Given the description of an element on the screen output the (x, y) to click on. 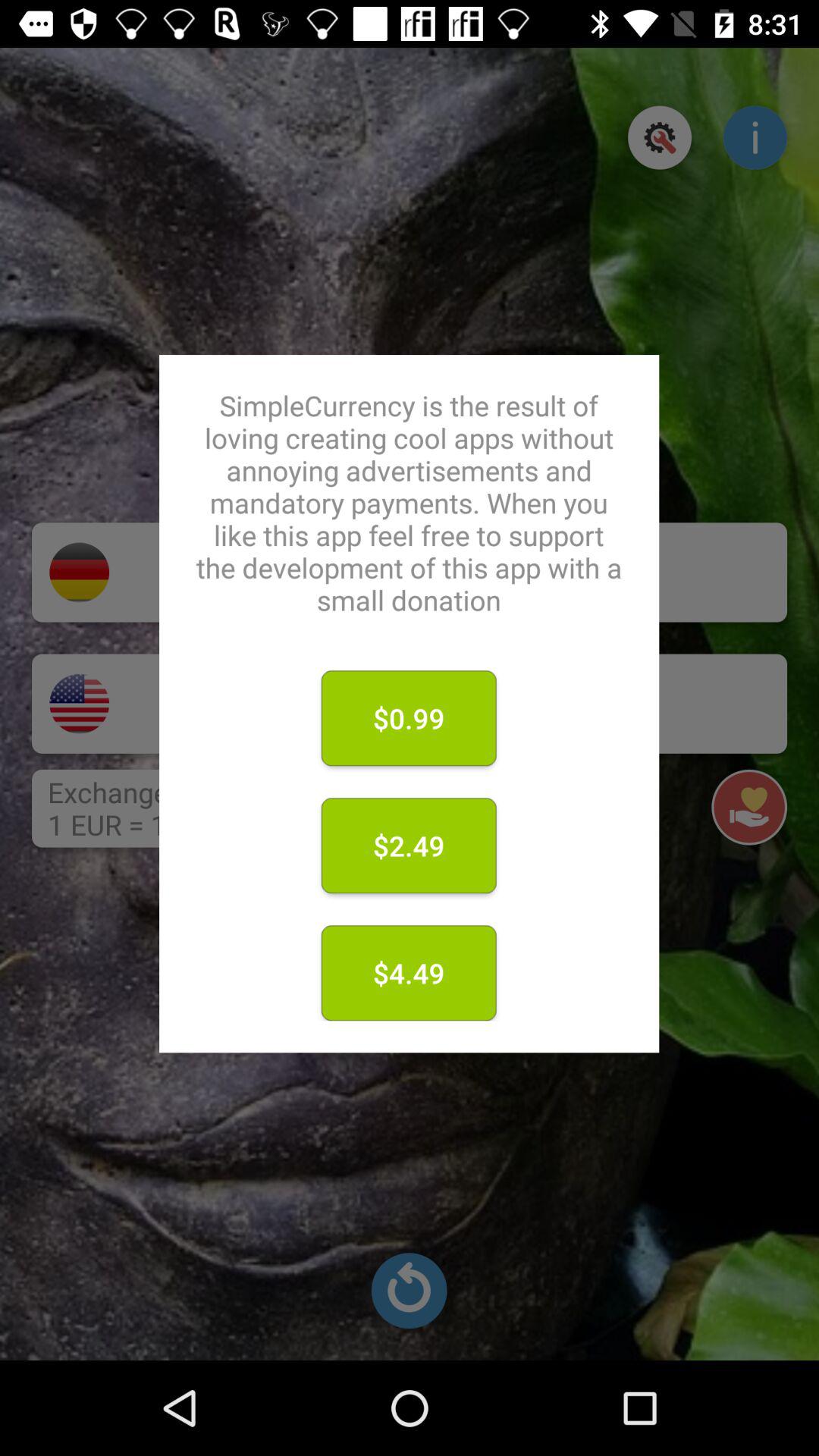
select american (79, 703)
